Given the description of an element on the screen output the (x, y) to click on. 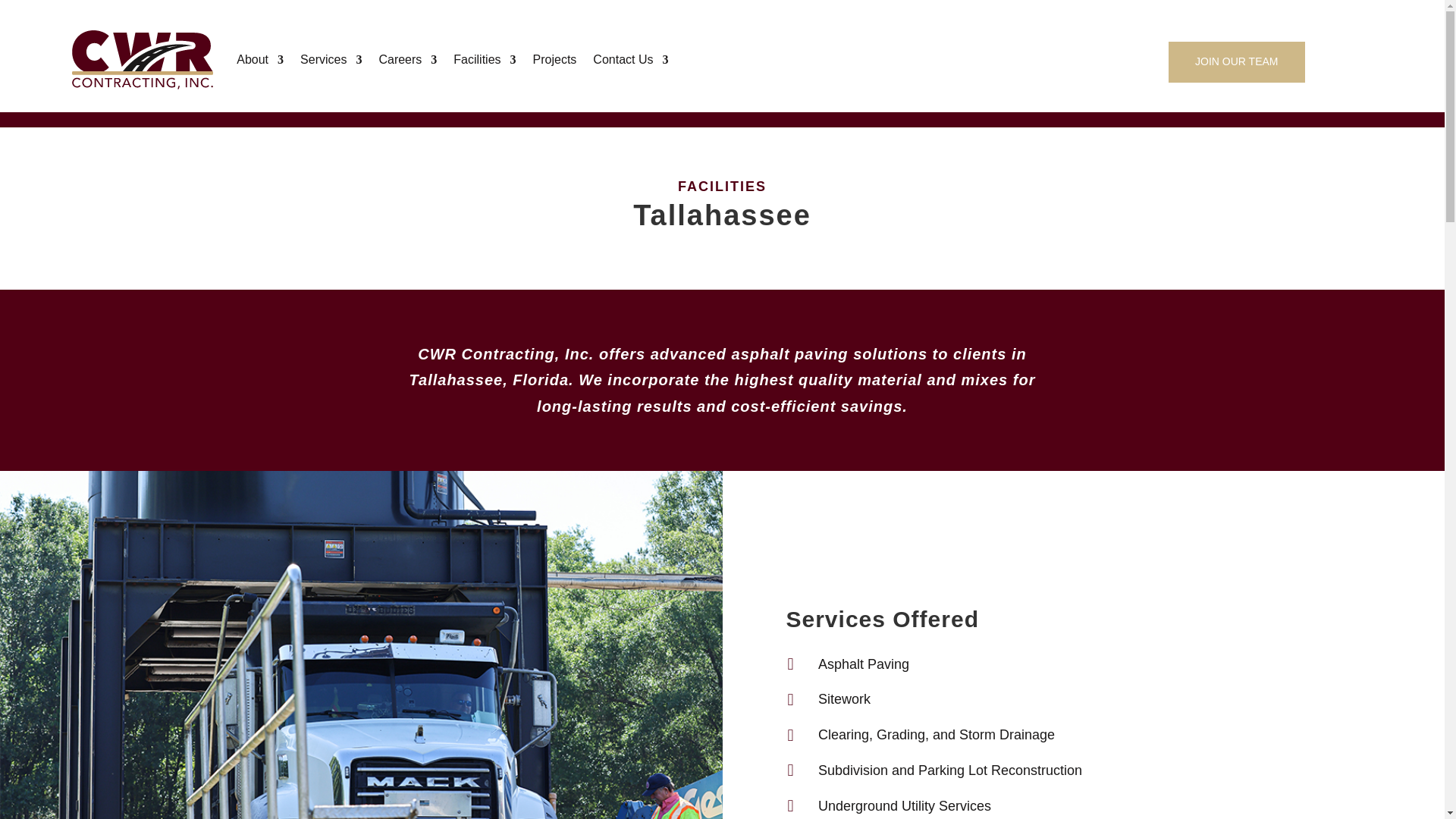
Contact Us (630, 59)
Careers (407, 59)
Services (330, 59)
Facilities (483, 59)
